Given the description of an element on the screen output the (x, y) to click on. 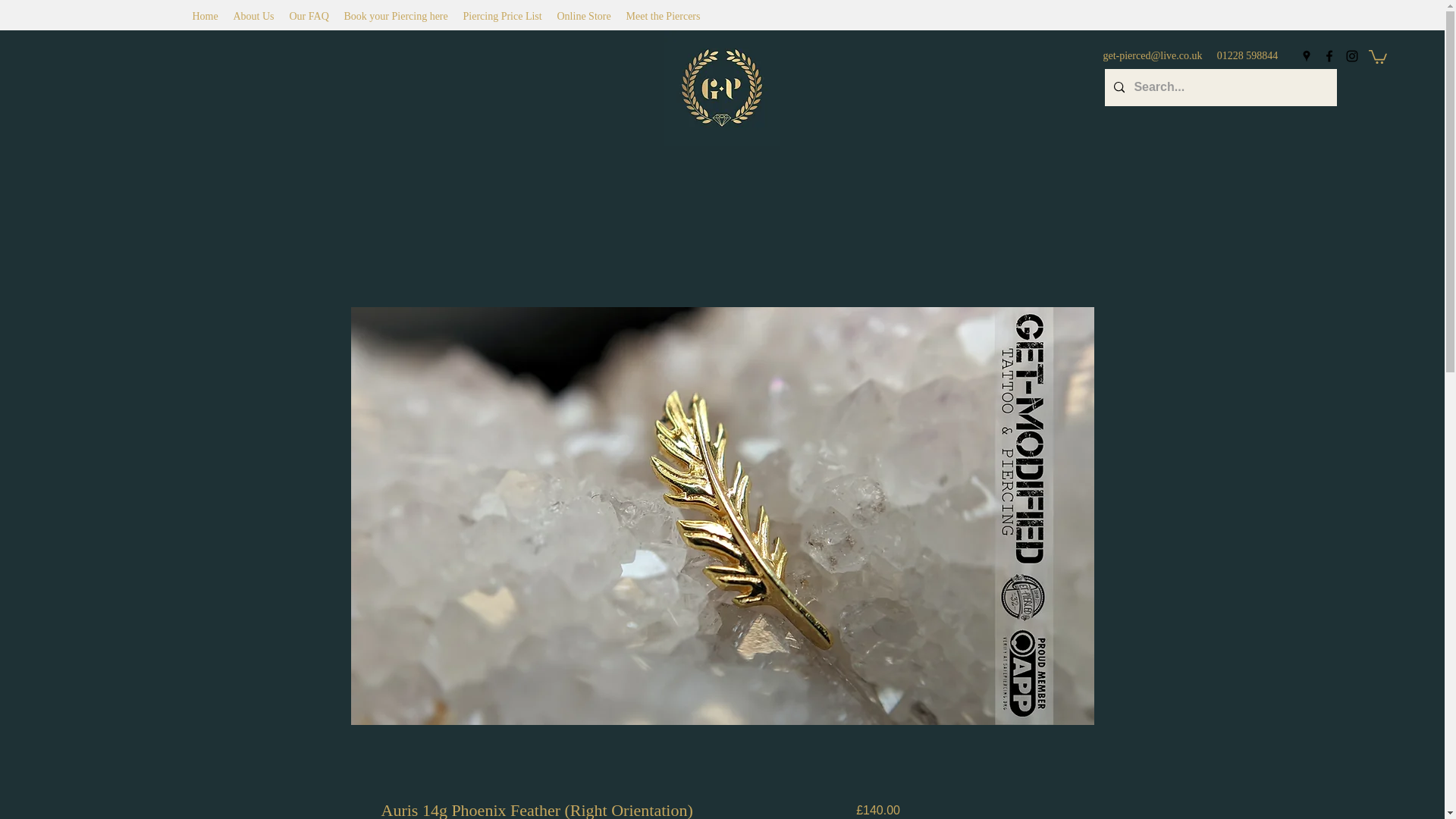
Home (204, 15)
Piercing Price List (501, 15)
Book your Piercing here (395, 15)
Our FAQ (309, 15)
Meet the Piercers (662, 15)
About Us (253, 15)
Online Store (582, 15)
